Given the description of an element on the screen output the (x, y) to click on. 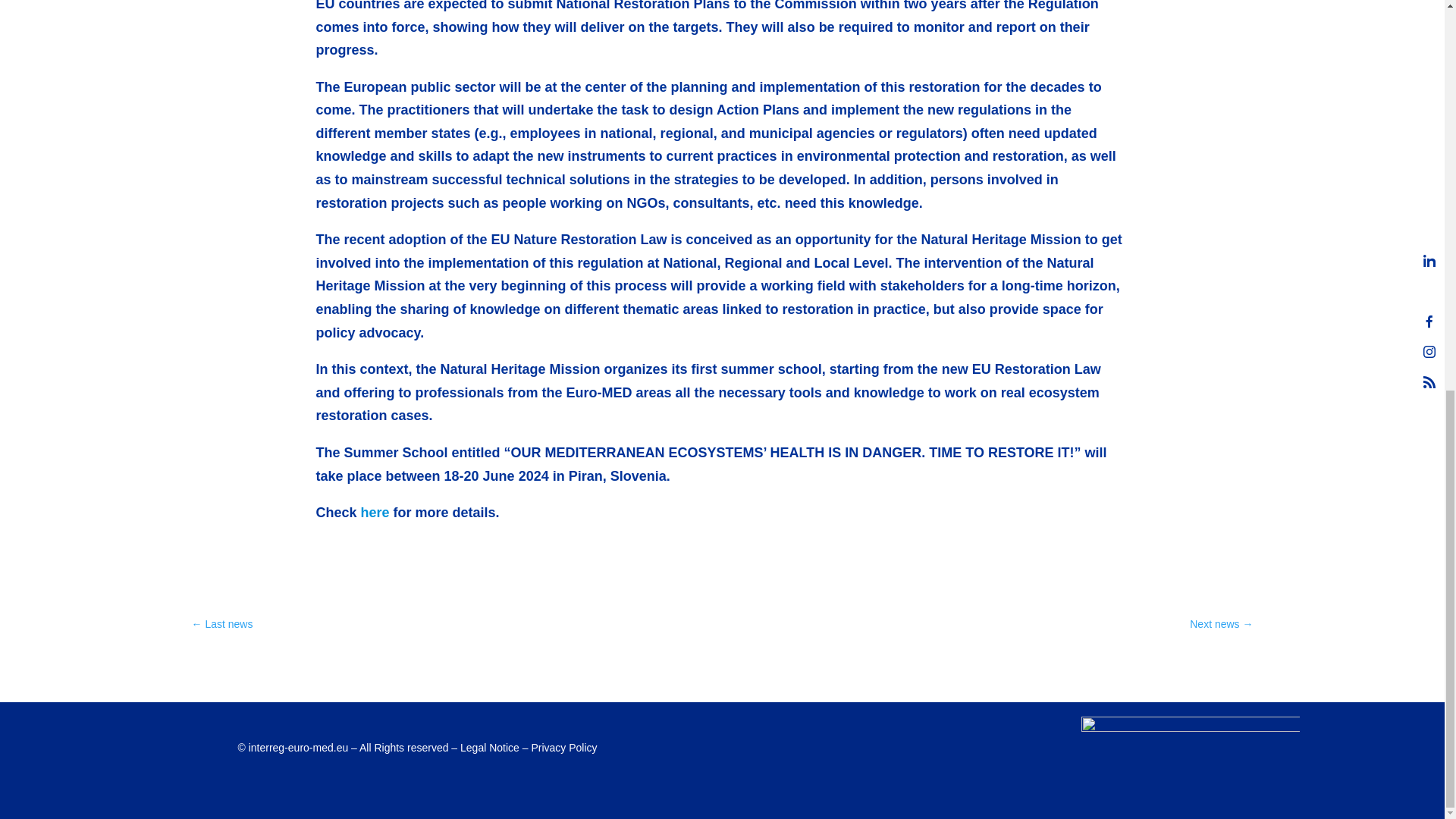
Legal Notice (489, 748)
Privacy Policy (563, 748)
here (375, 512)
